Given the description of an element on the screen output the (x, y) to click on. 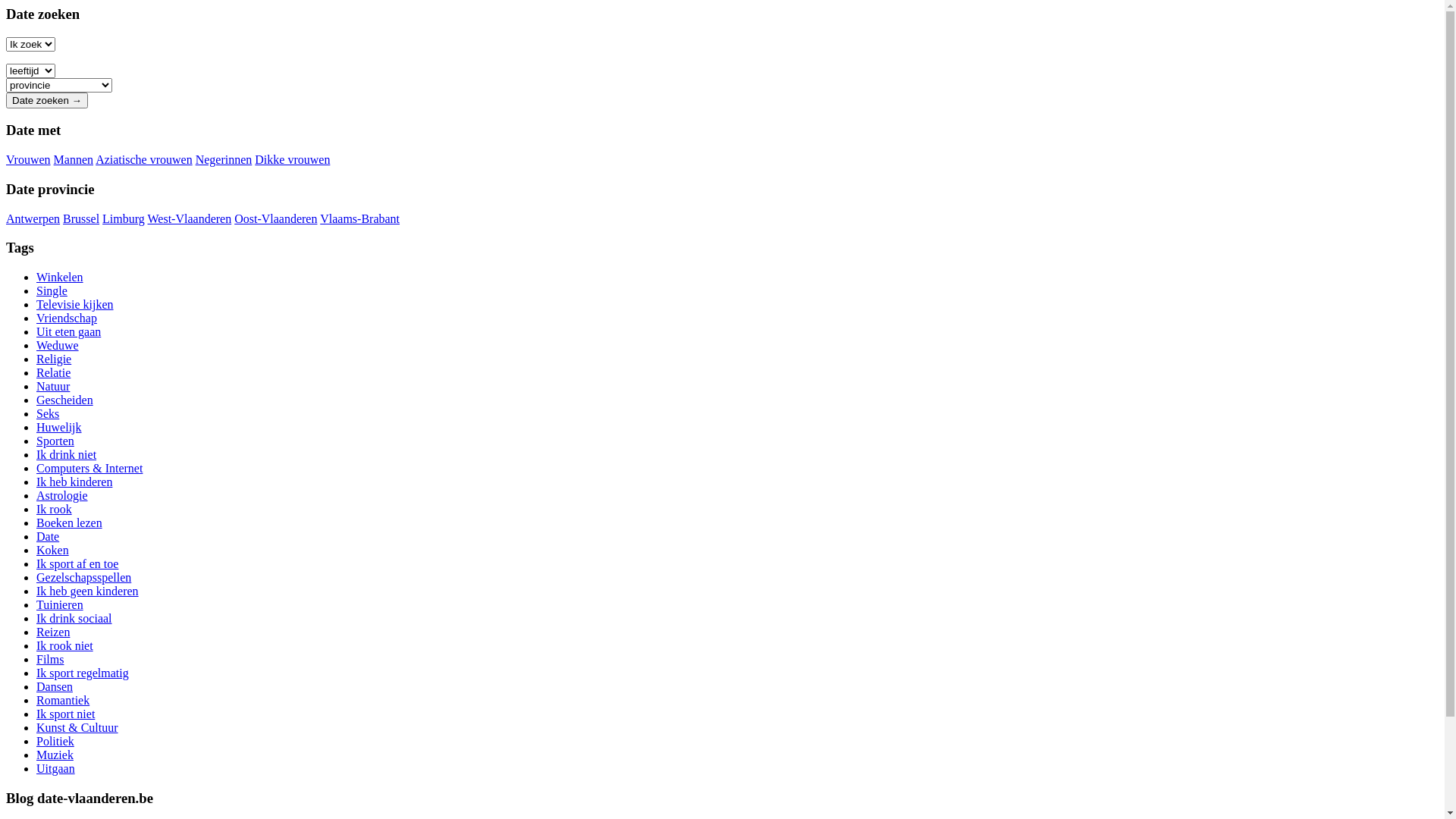
Ik sport af en toe Element type: text (77, 563)
Relatie Element type: text (53, 372)
Dansen Element type: text (54, 686)
Seks Element type: text (47, 413)
West-Vlaanderen Element type: text (189, 218)
Brussel Element type: text (80, 218)
Limburg Element type: text (123, 218)
Uitgaan Element type: text (55, 768)
Huwelijk Element type: text (58, 426)
Sporten Element type: text (55, 440)
Televisie kijken Element type: text (74, 304)
Gezelschapsspellen Element type: text (83, 577)
Vlaams-Brabant Element type: text (359, 218)
Koken Element type: text (52, 549)
Ik rook Element type: text (54, 508)
Winkelen Element type: text (59, 276)
Kunst & Cultuur Element type: text (77, 727)
Single Element type: text (51, 290)
Weduwe Element type: text (57, 344)
Ik rook niet Element type: text (64, 645)
Ik drink sociaal Element type: text (74, 617)
Ik drink niet Element type: text (66, 454)
Computers & Internet Element type: text (89, 467)
Mannen Element type: text (73, 159)
Boeken lezen Element type: text (69, 522)
Ik heb geen kinderen Element type: text (87, 590)
Ik sport niet Element type: text (65, 713)
Gescheiden Element type: text (64, 399)
Date Element type: text (47, 536)
Vriendschap Element type: text (66, 317)
Astrologie Element type: text (61, 495)
Uit eten gaan Element type: text (68, 331)
Ik sport regelmatig Element type: text (82, 672)
Antwerpen Element type: text (32, 218)
Politiek Element type: text (55, 740)
Religie Element type: text (53, 358)
Dikke vrouwen Element type: text (291, 159)
Romantiek Element type: text (62, 699)
Oost-Vlaanderen Element type: text (275, 218)
Reizen Element type: text (52, 631)
Negerinnen Element type: text (223, 159)
Tuinieren Element type: text (59, 604)
Natuur Element type: text (52, 385)
Films Element type: text (49, 658)
Aziatische vrouwen Element type: text (143, 159)
Muziek Element type: text (54, 754)
Vrouwen Element type: text (28, 159)
Ik heb kinderen Element type: text (74, 481)
